Given the description of an element on the screen output the (x, y) to click on. 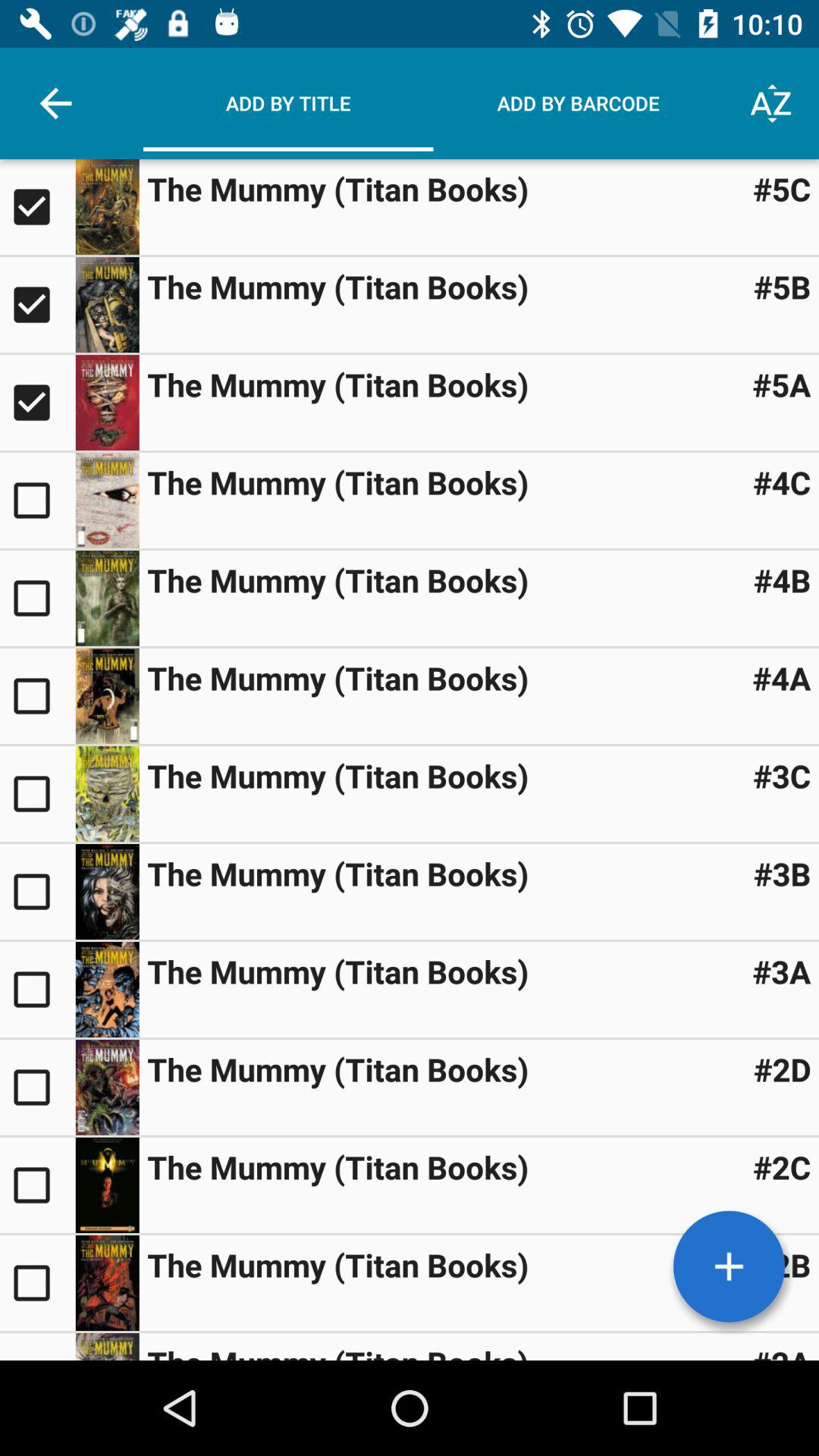
selection tick box (37, 598)
